Given the description of an element on the screen output the (x, y) to click on. 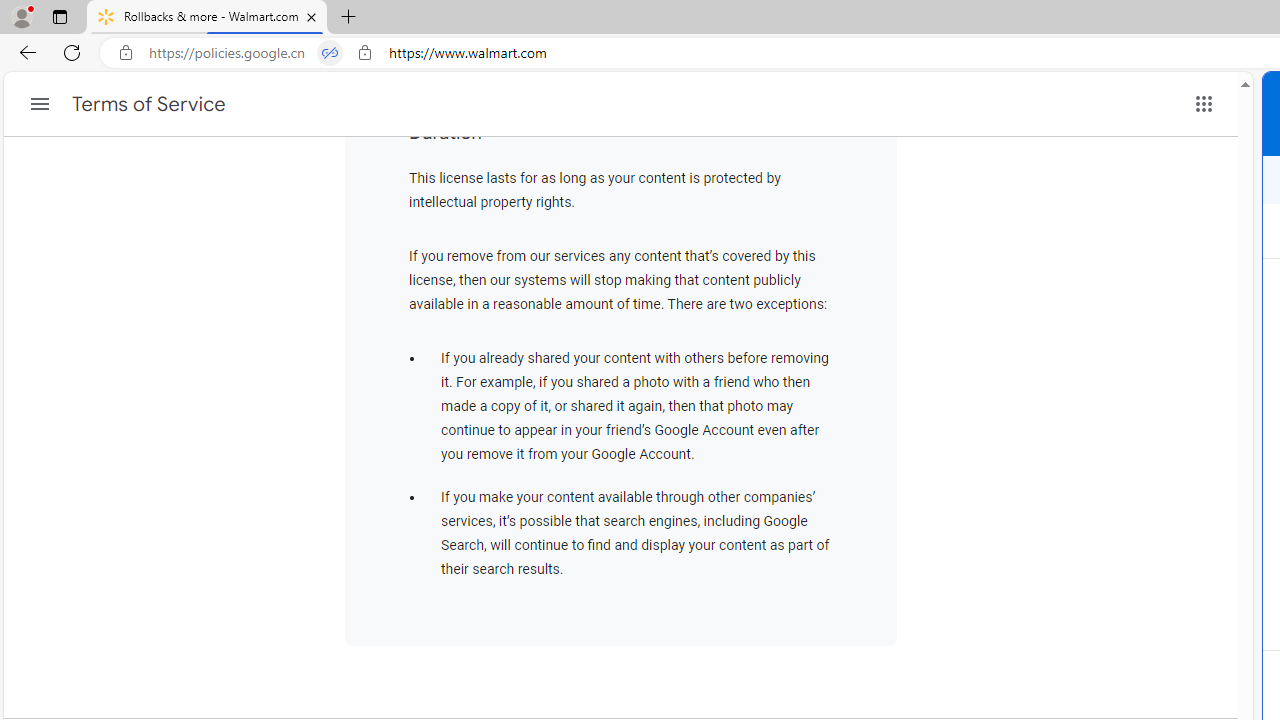
Rollbacks & more - Walmart.com (207, 17)
Tabs in split screen (330, 53)
